Given the description of an element on the screen output the (x, y) to click on. 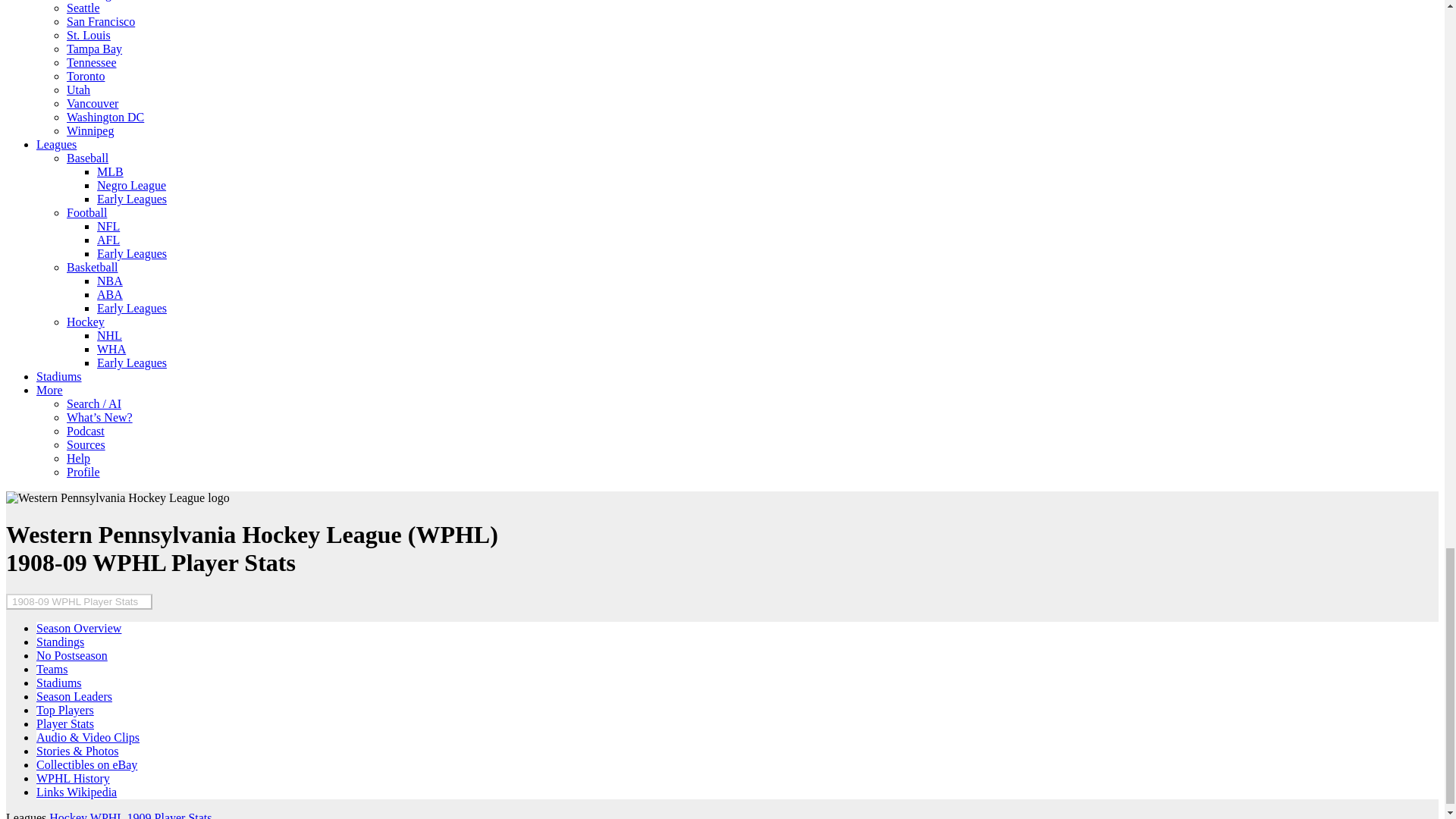
Western Pennsylvania Hockey League logo (117, 498)
